Given the description of an element on the screen output the (x, y) to click on. 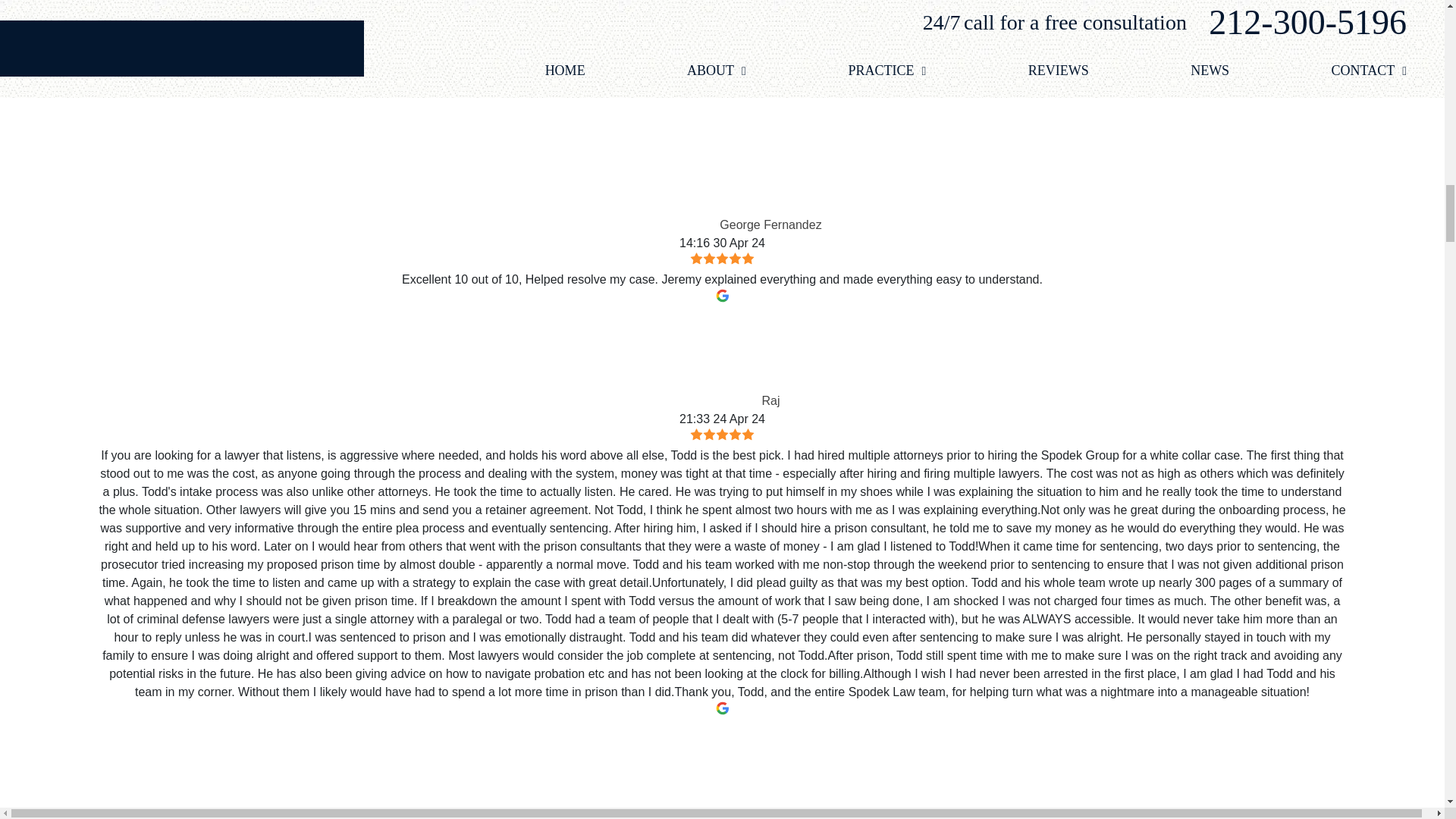
Raj (712, 355)
powered by Google (721, 112)
George Fernandez (671, 180)
Yelva Saint-Preux (674, 768)
Spodek Law Group, P.C. - NYC Criminal Attorneys (721, 19)
